Given the description of an element on the screen output the (x, y) to click on. 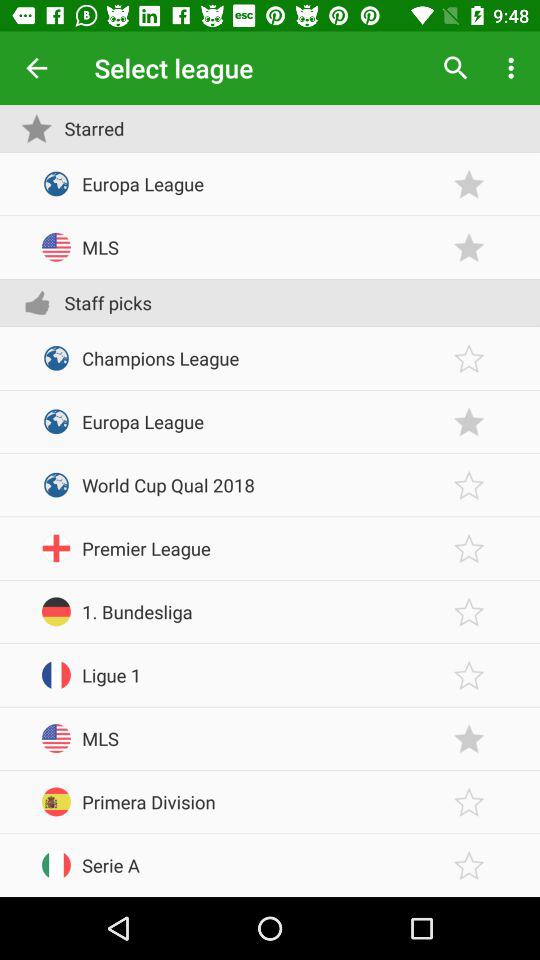
would favorite serie a (469, 865)
